Given the description of an element on the screen output the (x, y) to click on. 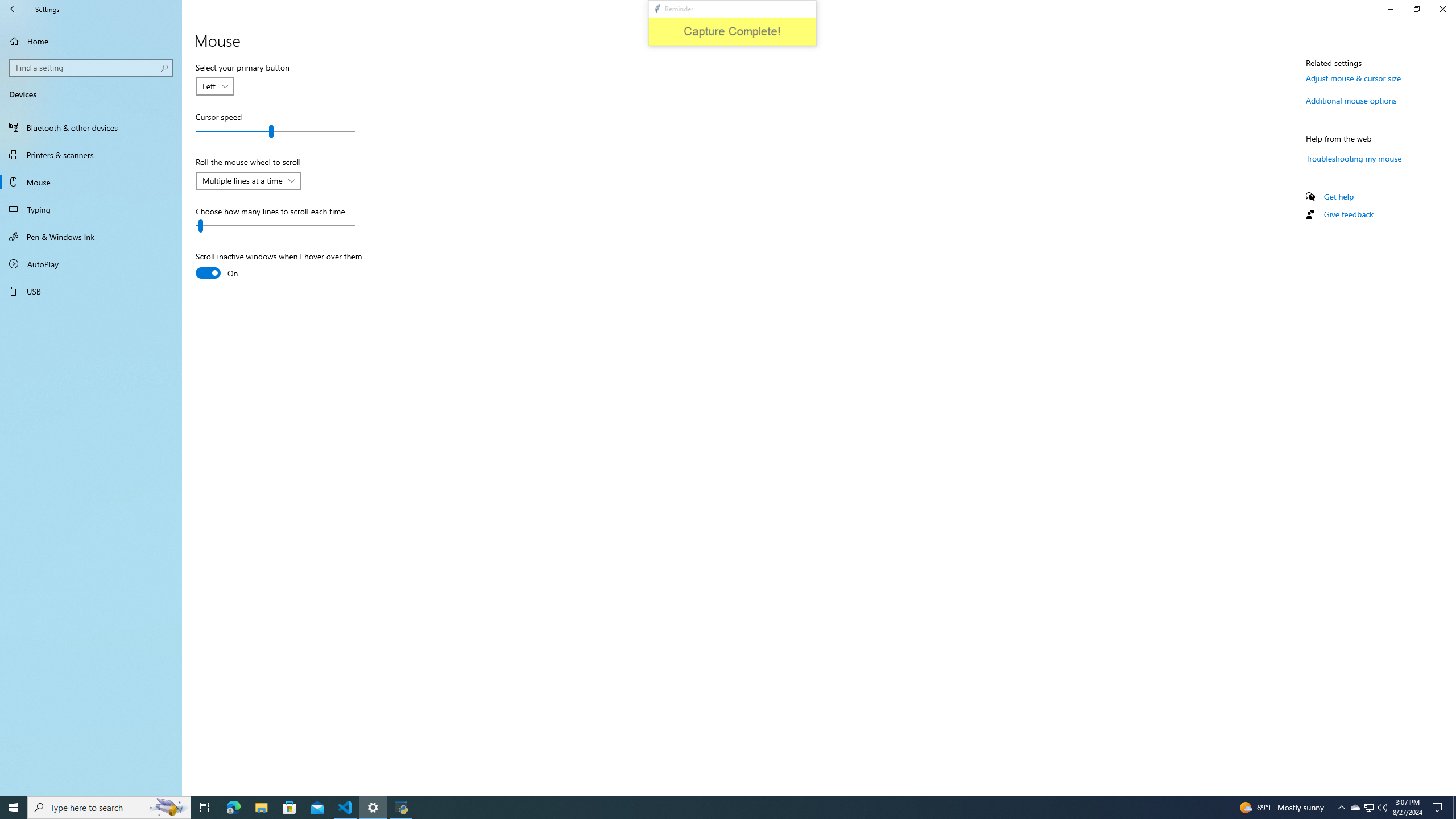
Microsoft Store (289, 807)
USB (91, 290)
Minimize Settings (1390, 9)
Pen & Windows Ink (91, 236)
Typing (91, 208)
Troubleshooting my mouse (1354, 158)
Close Settings (1442, 9)
Printers & scanners (91, 154)
Mouse (91, 181)
Type here to search (108, 807)
Left (208, 86)
